Given the description of an element on the screen output the (x, y) to click on. 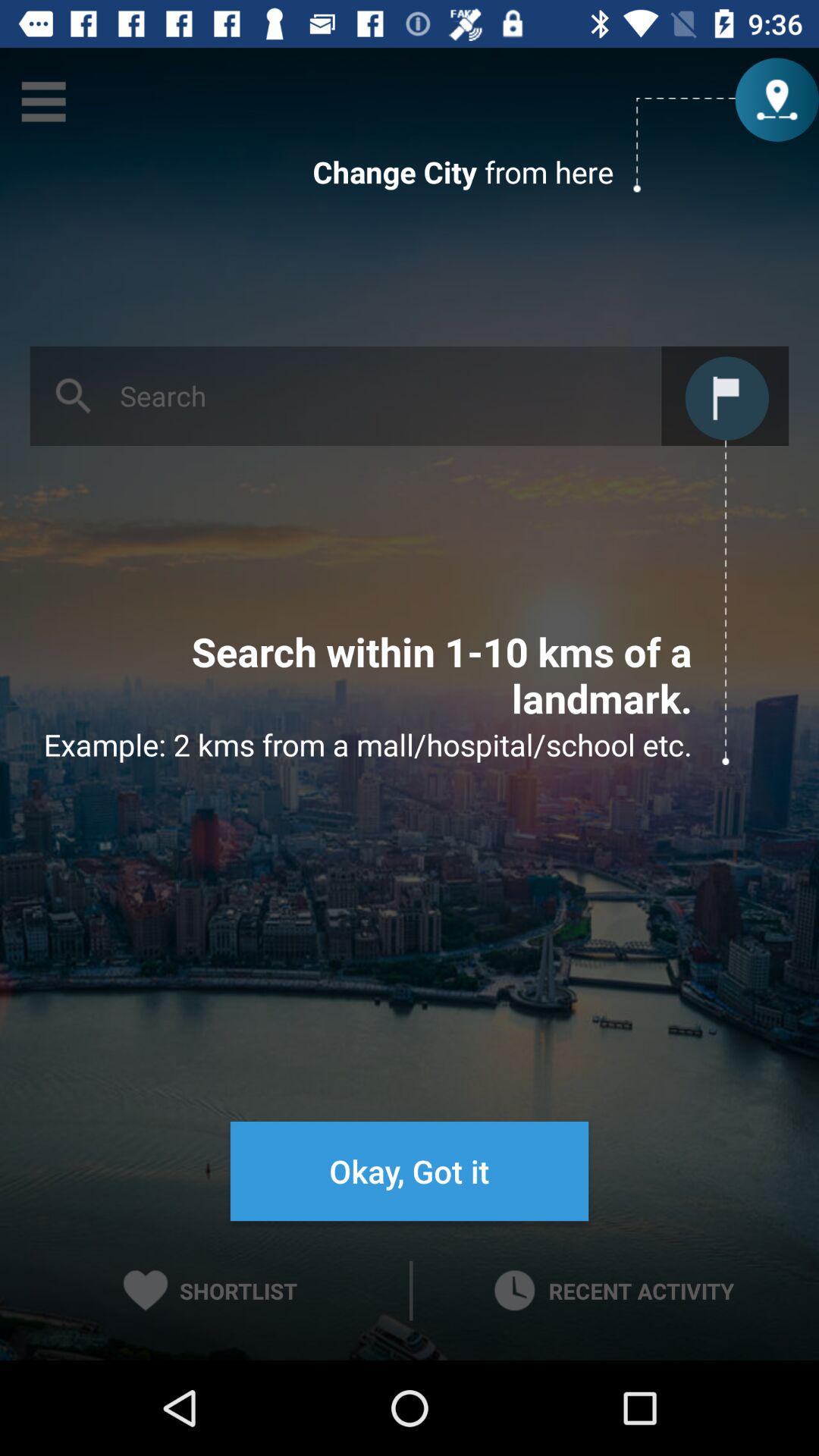
click on search icon beside to search (73, 395)
